Given the description of an element on the screen output the (x, y) to click on. 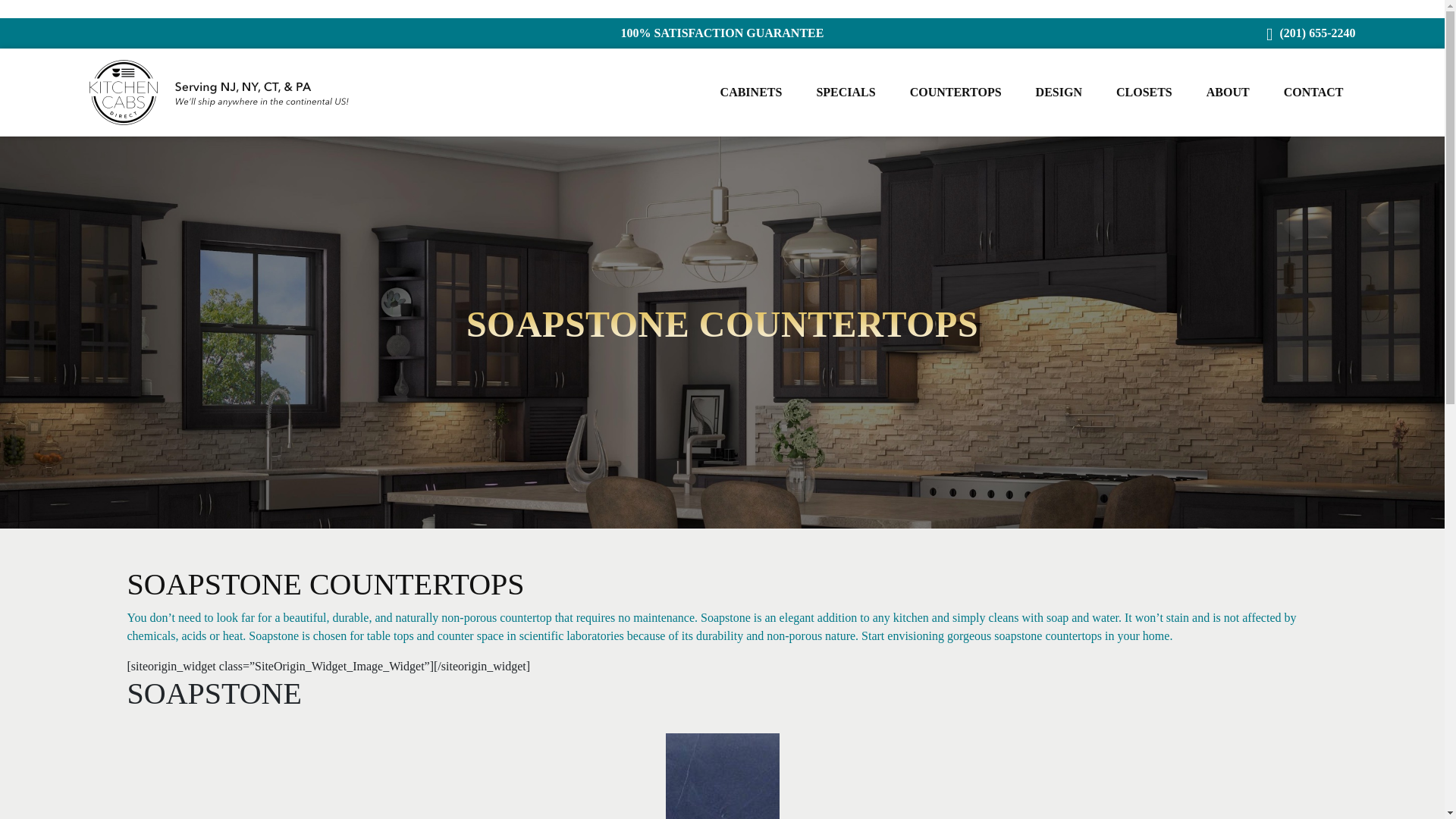
ABOUT (1228, 92)
SPECIALS (845, 92)
CABINETS (751, 92)
COUNTERTOPS (955, 92)
CLOSETS (1144, 92)
DESIGN (1058, 92)
CONTACT (1313, 92)
